Given the description of an element on the screen output the (x, y) to click on. 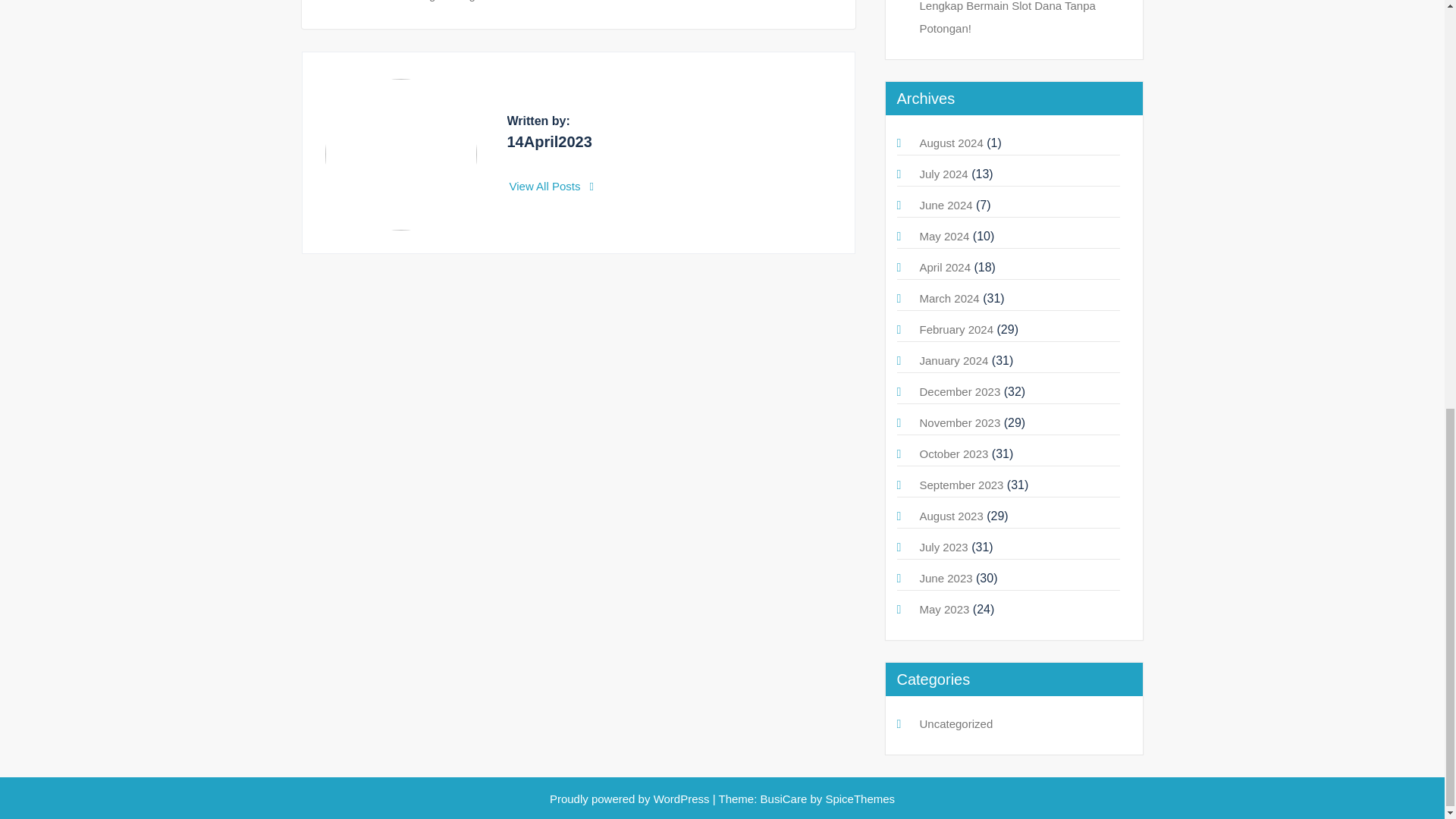
December 2023 (959, 391)
Uncategorized (955, 723)
November 2023 (959, 422)
September 2023 (960, 484)
BusiCare (785, 798)
June 2023 (945, 577)
October 2023 (953, 453)
May 2023 (943, 608)
August 2024 (950, 142)
April 2024 (944, 267)
July 2024 (943, 173)
March 2024 (948, 297)
May 2024 (943, 236)
WordPress (681, 798)
